Given the description of an element on the screen output the (x, y) to click on. 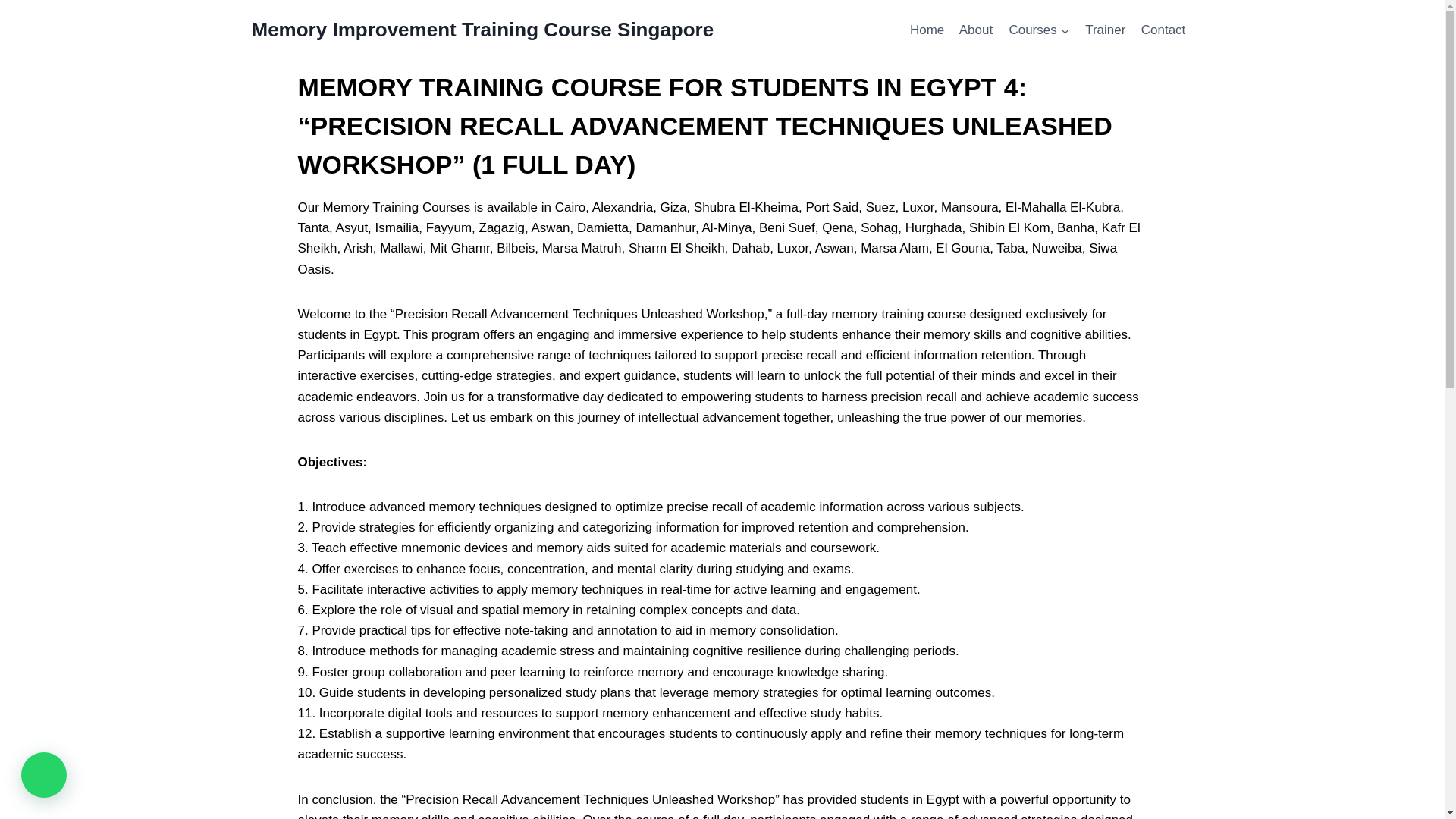
Trainer (1105, 30)
Home (927, 30)
Courses (1039, 30)
Memory Improvement Training Course Singapore (482, 29)
Contact (1163, 30)
About (976, 30)
